Given the description of an element on the screen output the (x, y) to click on. 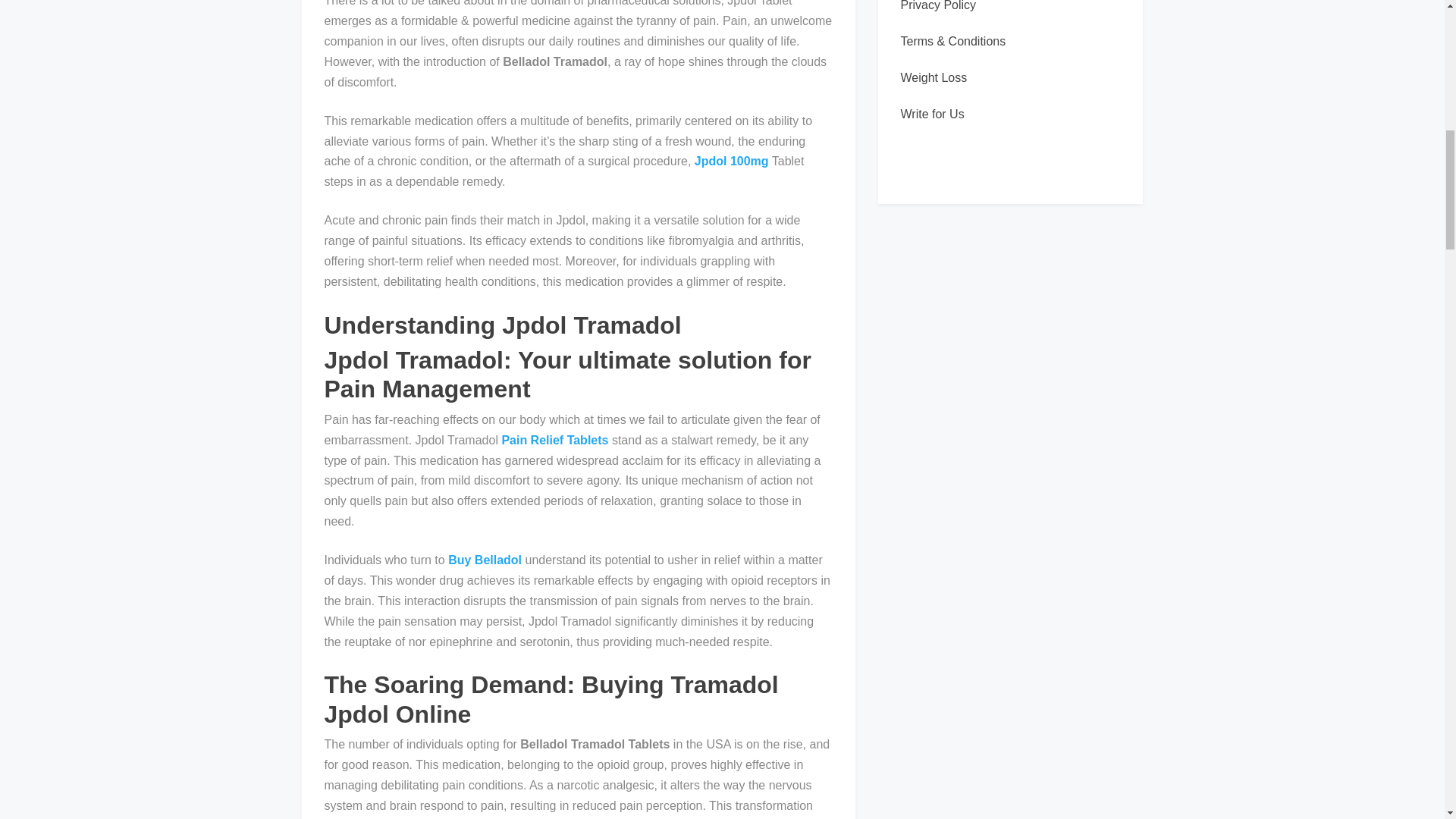
Buy Belladol (484, 559)
Pain Relief Tablets (554, 440)
Jpdol 100mg (731, 160)
